Given the description of an element on the screen output the (x, y) to click on. 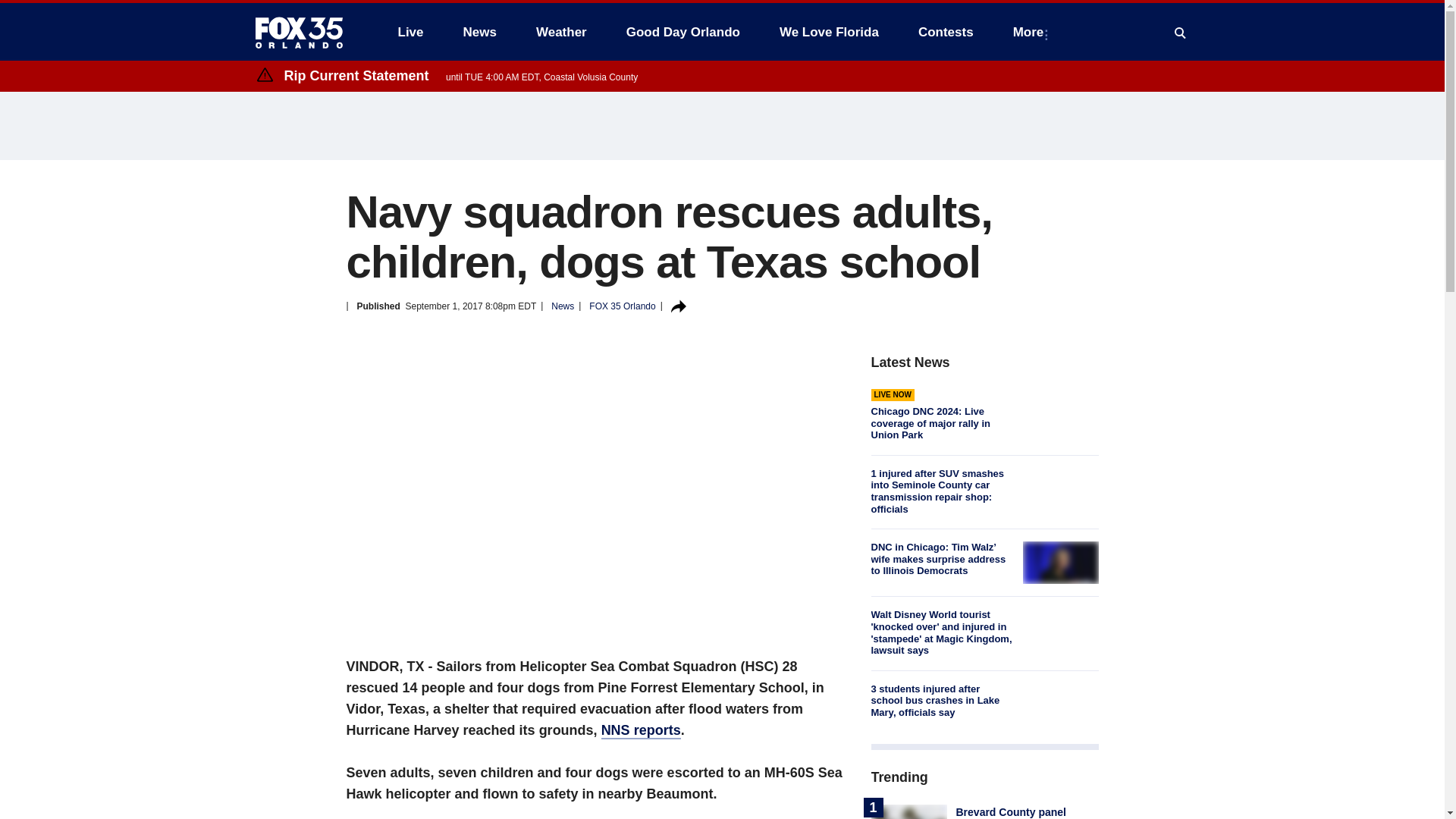
Good Day Orlando (683, 32)
News (479, 32)
Live (410, 32)
More (1031, 32)
Weather (561, 32)
Contests (945, 32)
We Love Florida (829, 32)
